Given the description of an element on the screen output the (x, y) to click on. 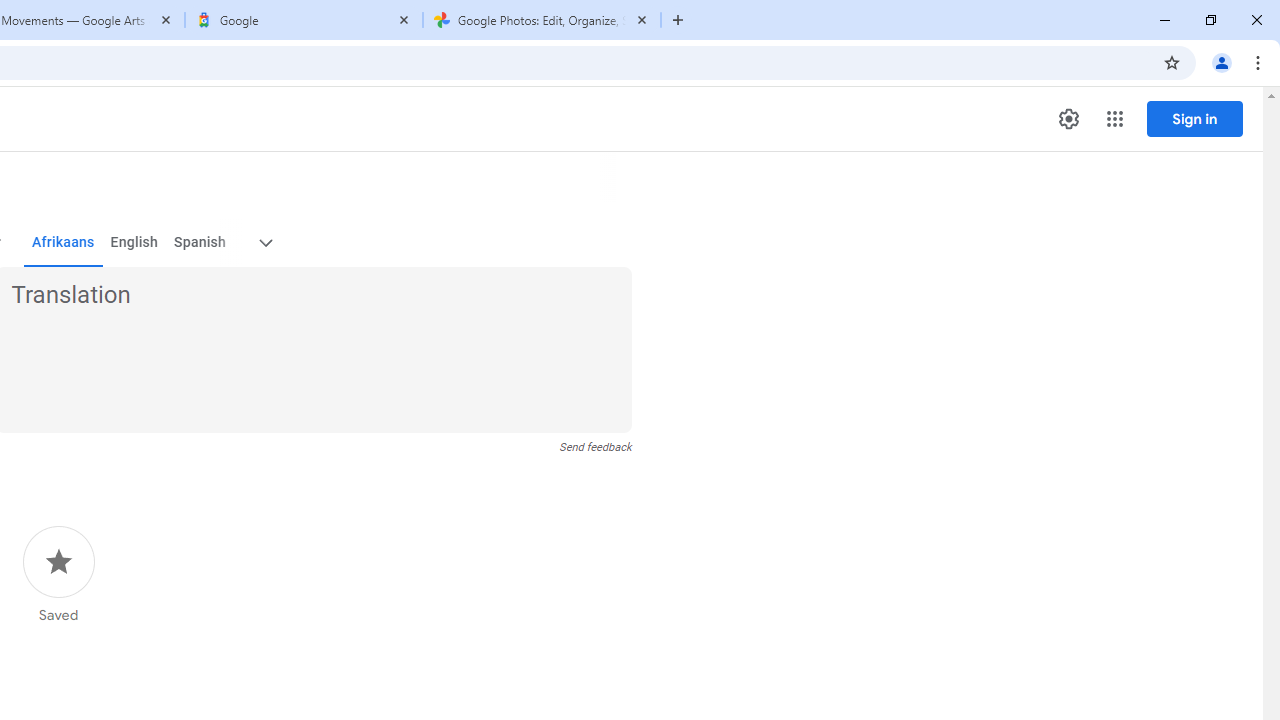
Google (304, 20)
Send feedback (595, 447)
Saved (57, 575)
More target languages (264, 242)
English (134, 242)
Sign in (1194, 118)
Settings (1068, 119)
Spanish (199, 242)
